Given the description of an element on the screen output the (x, y) to click on. 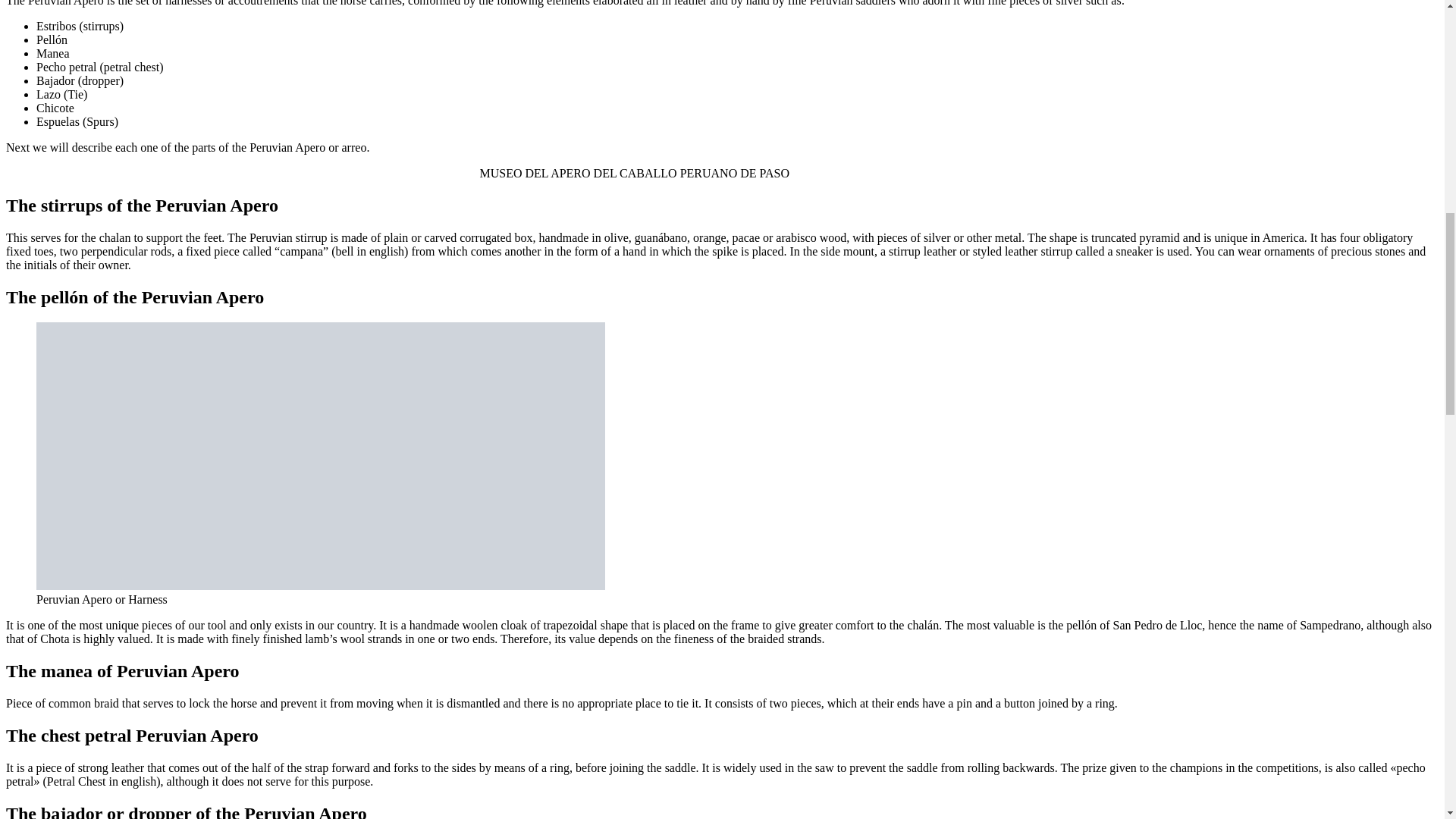
MUSEO DEL APERO DEL CABALLO PERUANO DE PASO (721, 173)
